Given the description of an element on the screen output the (x, y) to click on. 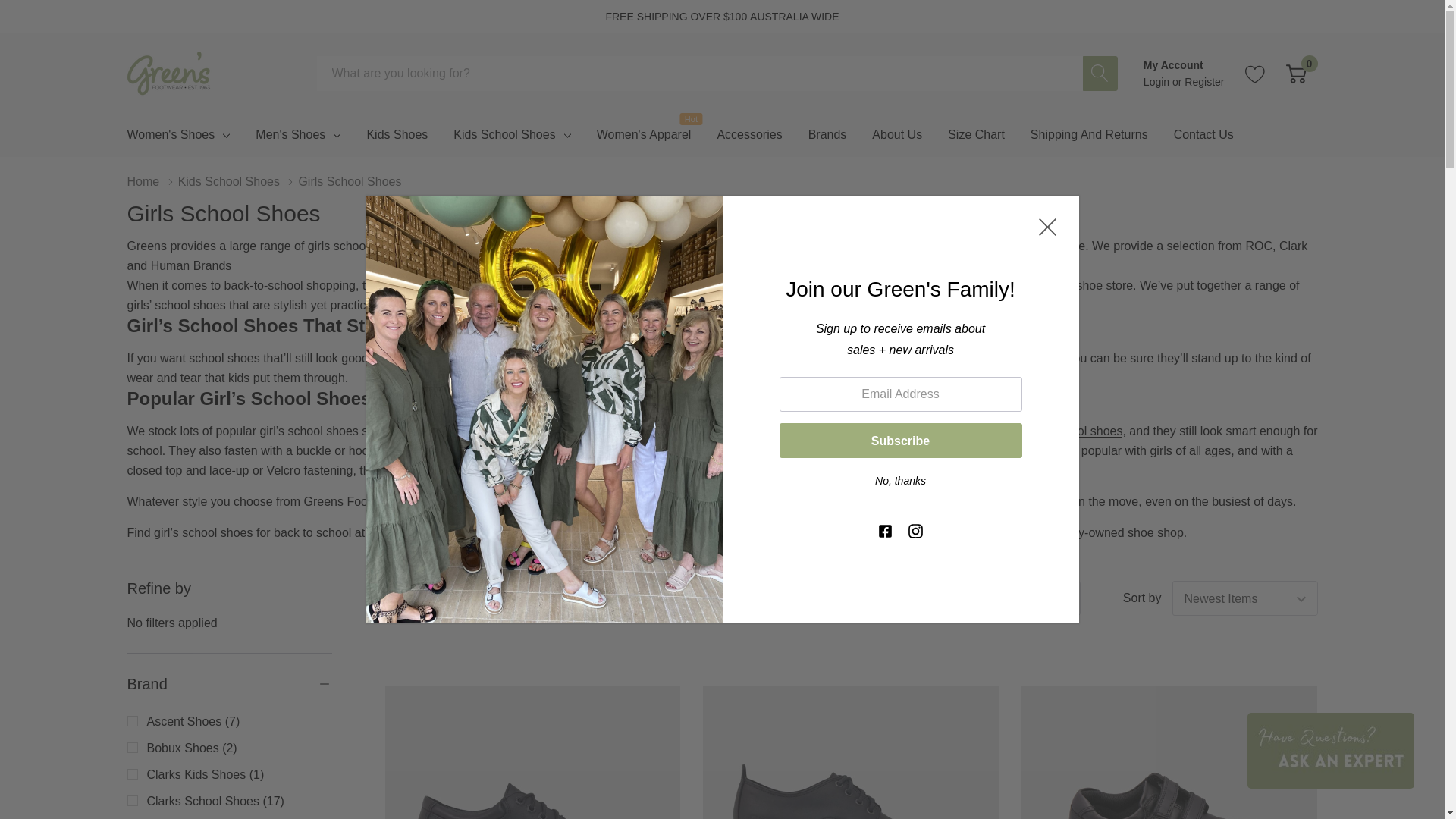
black (533, 752)
Register (1204, 81)
Black (850, 752)
Login (1157, 81)
Black - E (1169, 752)
Greens Footwear Pty Ltd (170, 72)
0 (1295, 72)
Women'S Shoes (171, 134)
Subscribe (900, 440)
